Given the description of an element on the screen output the (x, y) to click on. 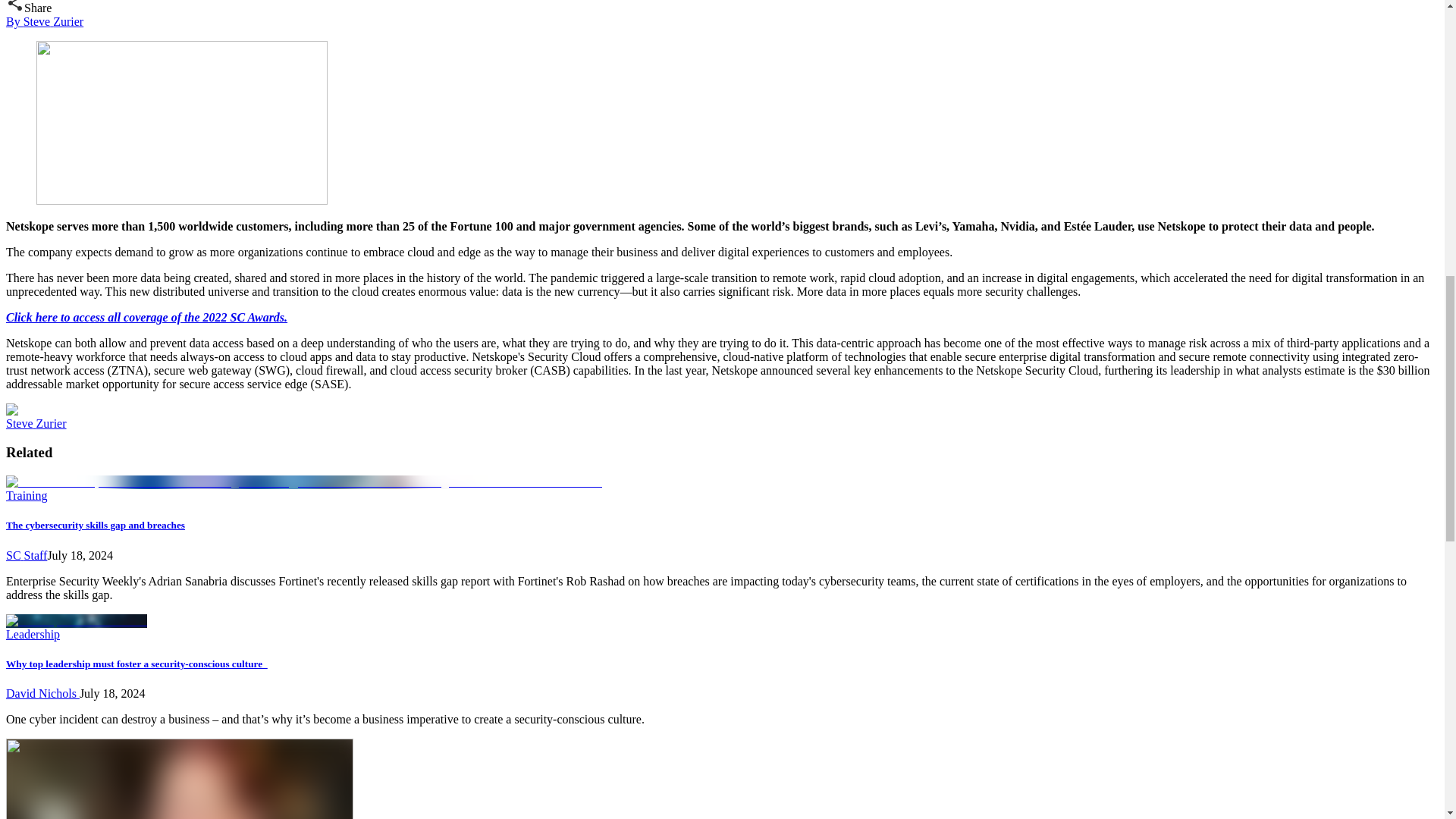
David Nichols (42, 693)
Click here to access all coverage of the 2022 SC Awards. (145, 317)
Training (26, 495)
SC Staff (25, 554)
Leadership (32, 634)
By Steve Zurier (43, 21)
Steve Zurier (35, 422)
